Given the description of an element on the screen output the (x, y) to click on. 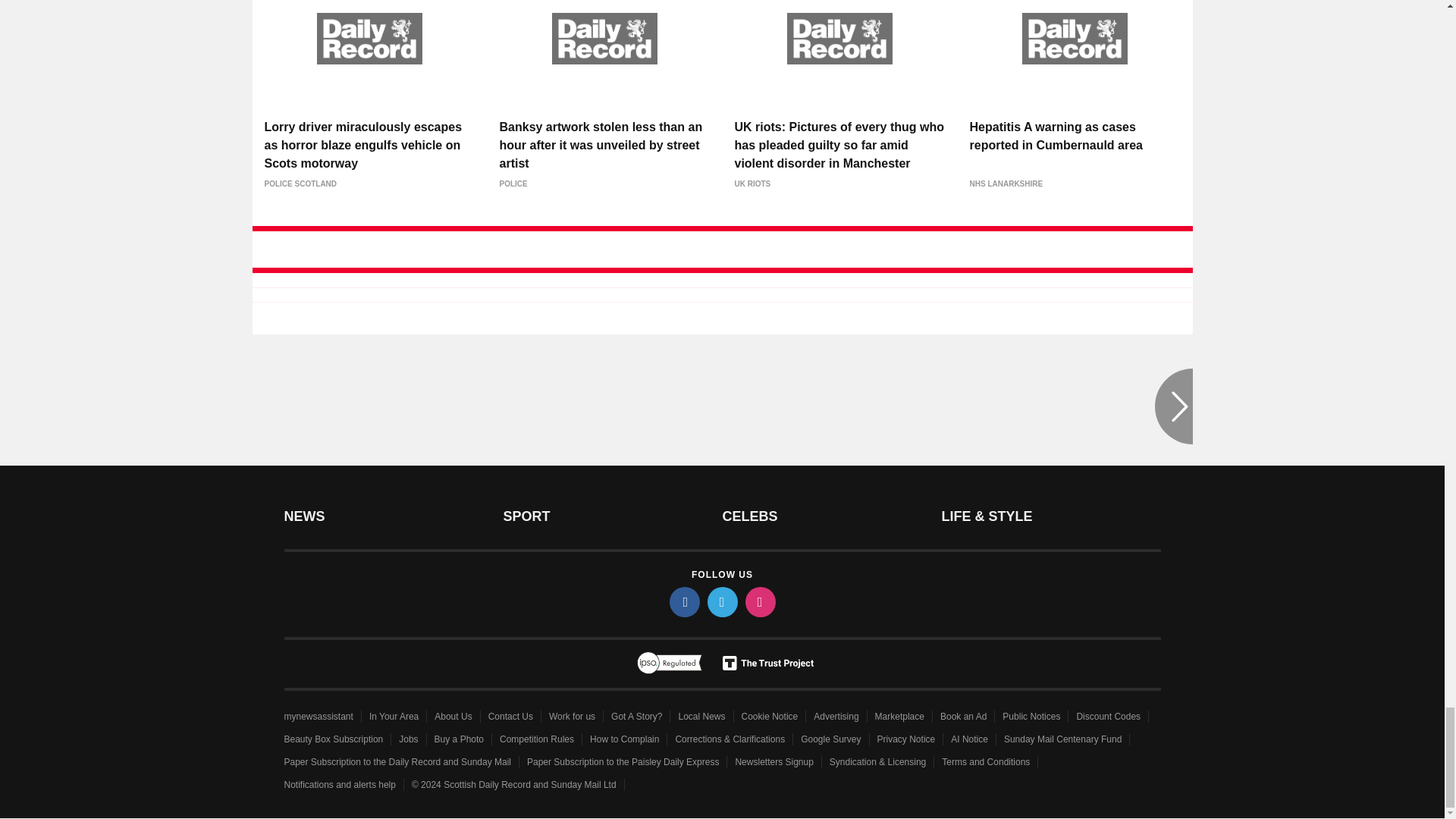
instagram (759, 602)
facebook (683, 602)
twitter (721, 602)
